Given the description of an element on the screen output the (x, y) to click on. 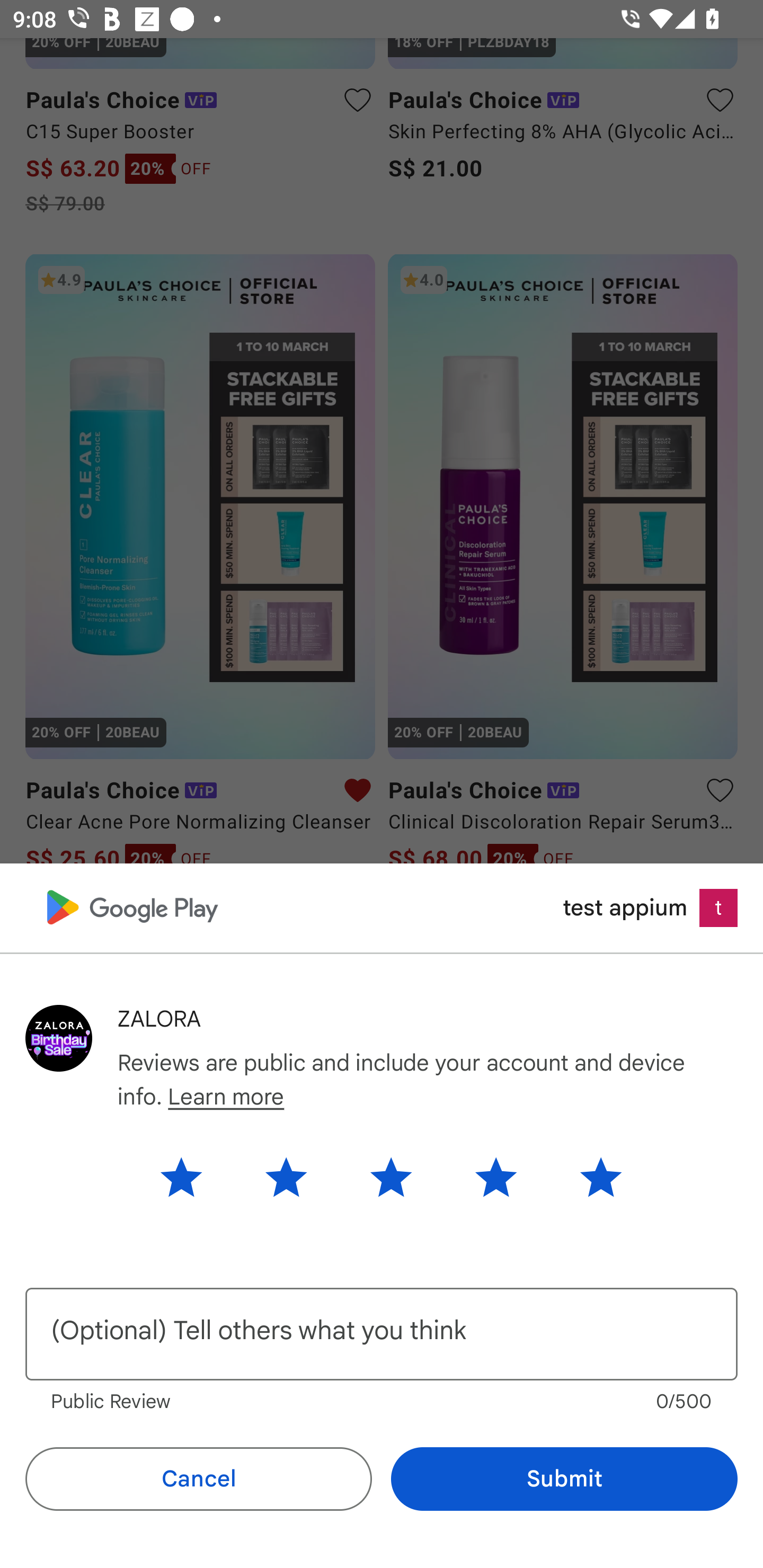
First star selected (194, 1176)
Second star selected (285, 1176)
Third star selected (390, 1176)
Fourth star selected (495, 1176)
Fifth star selected (587, 1176)
(Optional) Tell others what you think (381, 1333)
Cancel (198, 1479)
Submit (563, 1479)
